Given the description of an element on the screen output the (x, y) to click on. 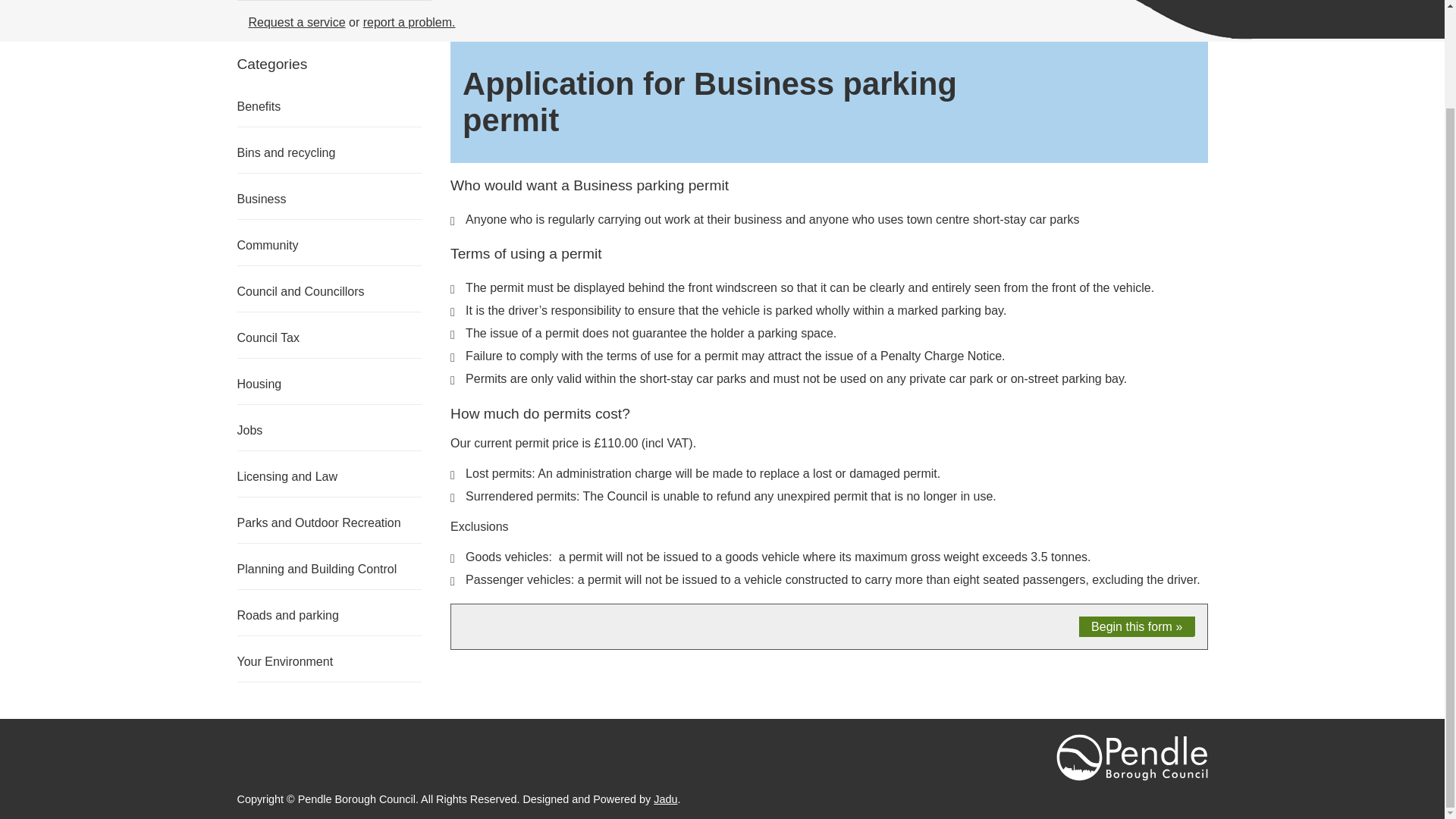
Bins and recycling (284, 152)
Housing (258, 383)
Business (260, 198)
Your Environment (284, 661)
Council and Councillors (299, 291)
Request a service (297, 21)
Council Tax (266, 337)
